Given the description of an element on the screen output the (x, y) to click on. 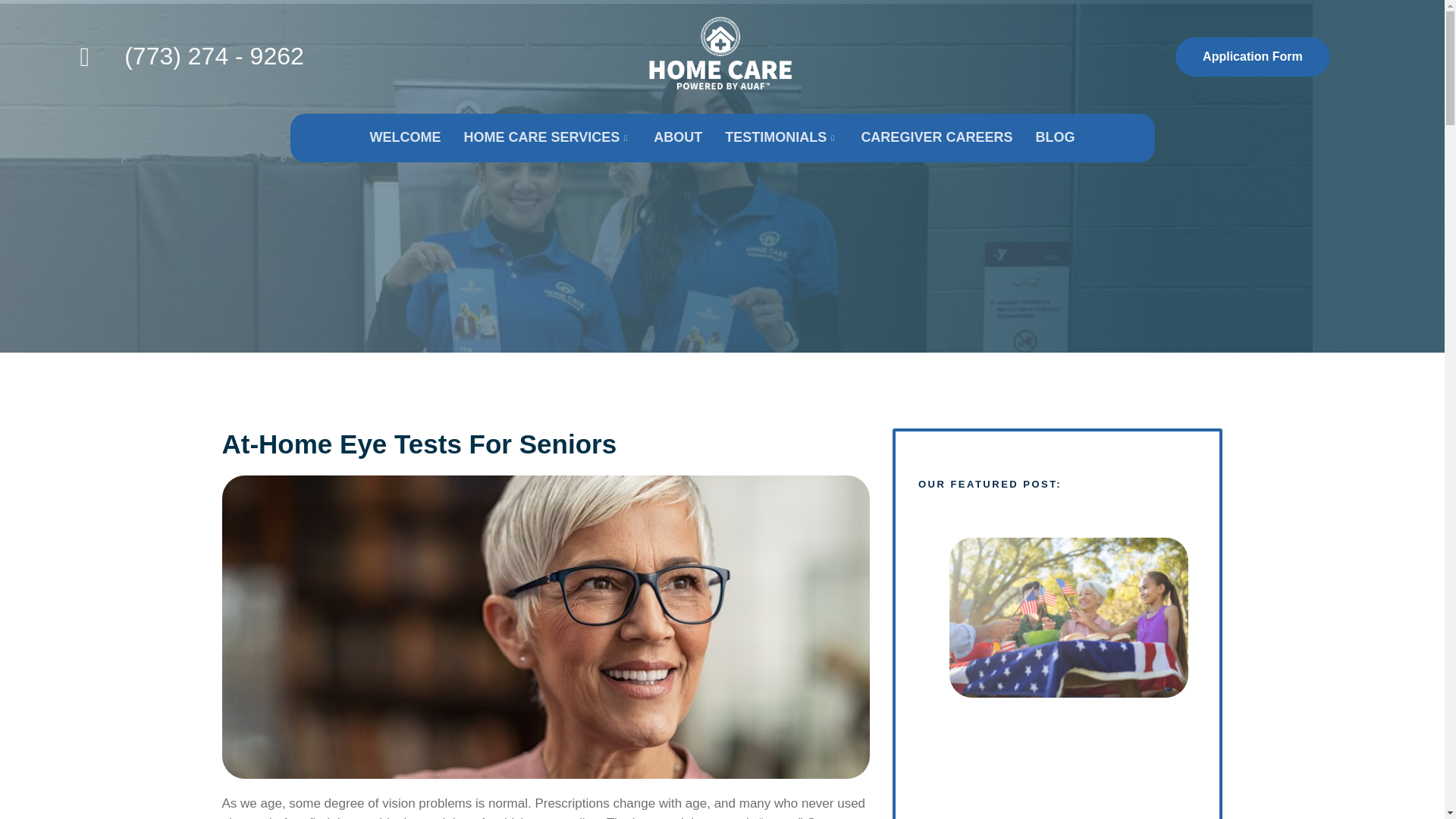
HOME CARE SERVICES (547, 137)
Application Form (1252, 56)
WELCOME (405, 137)
TESTIMONIALS (780, 137)
ABOUT (677, 137)
CAREGIVER CAREERS (935, 137)
BLOG (1054, 137)
